Given the description of an element on the screen output the (x, y) to click on. 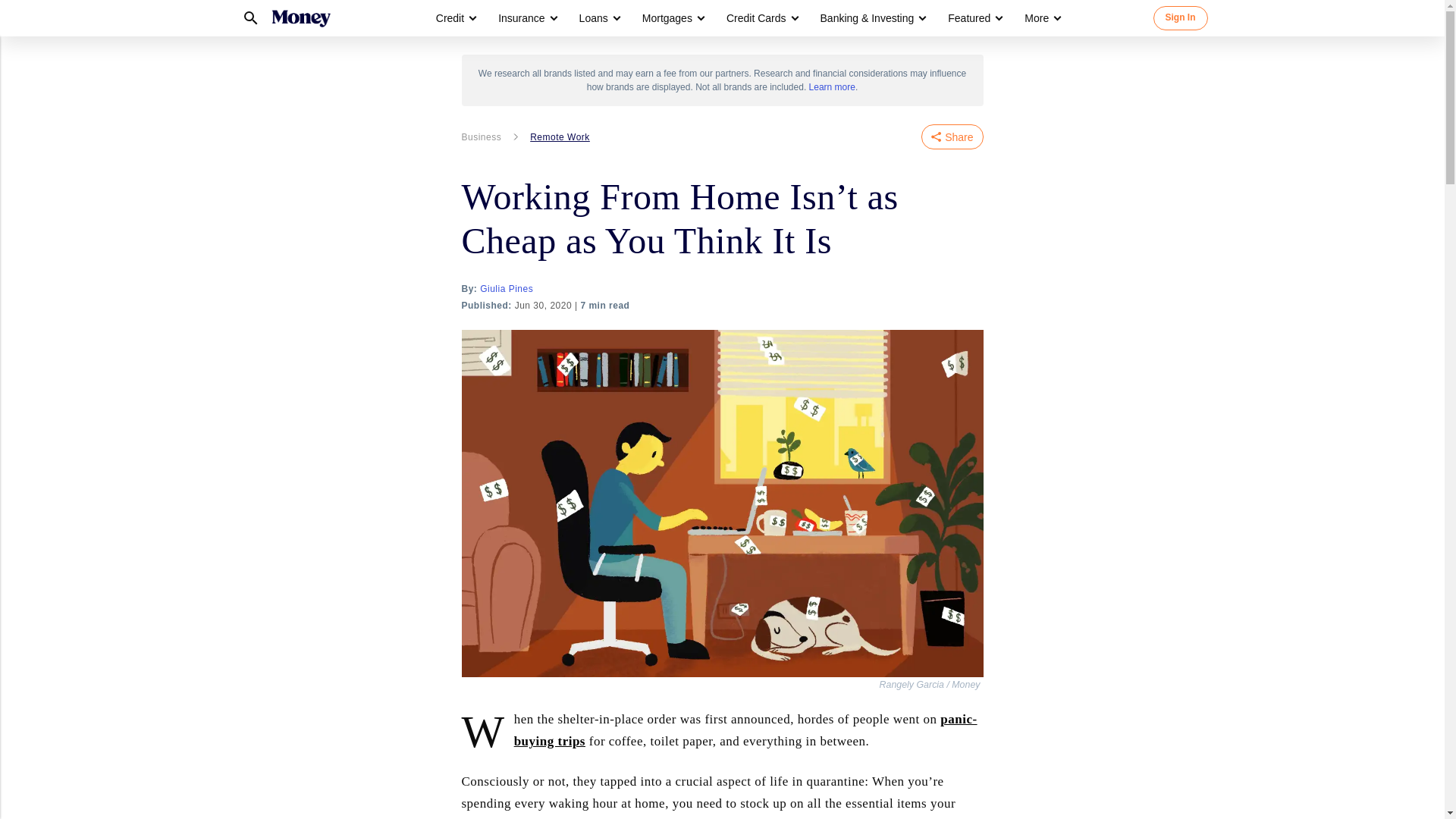
Insurance (520, 18)
Credit Cards (756, 18)
Credit (455, 18)
Insurance (526, 18)
Credit (449, 18)
Loans (593, 18)
Mortgages (667, 18)
Credit Cards (761, 18)
Loans (598, 18)
Mortgages (672, 18)
